Given the description of an element on the screen output the (x, y) to click on. 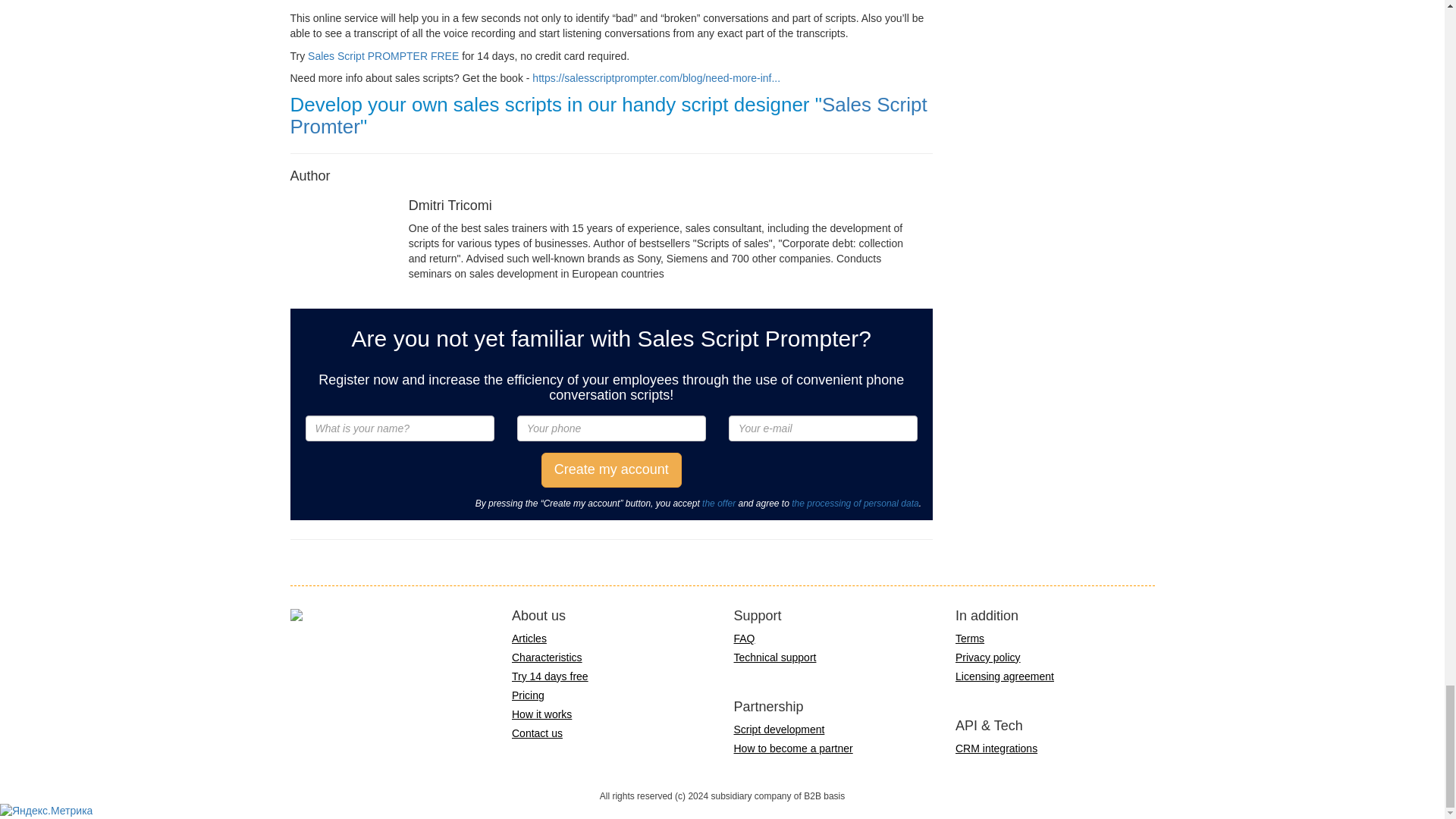
Sales Script PROMPTER FREE (382, 55)
Create my account (611, 469)
the offer (718, 502)
Sales Script Promter (607, 115)
the processing of personal data (855, 502)
